Given the description of an element on the screen output the (x, y) to click on. 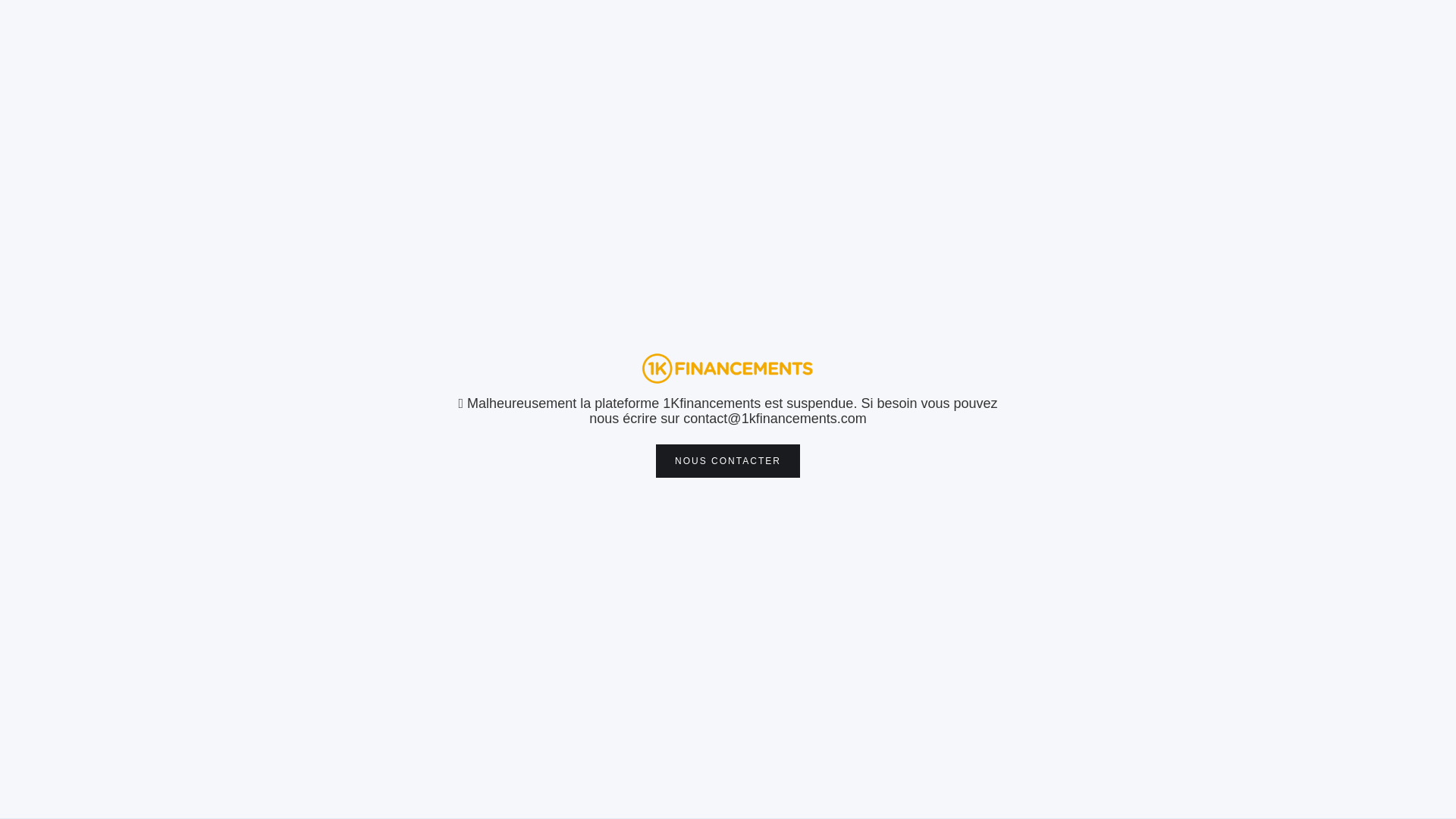
NOUS CONTACTER Element type: text (727, 460)
